Given the description of an element on the screen output the (x, y) to click on. 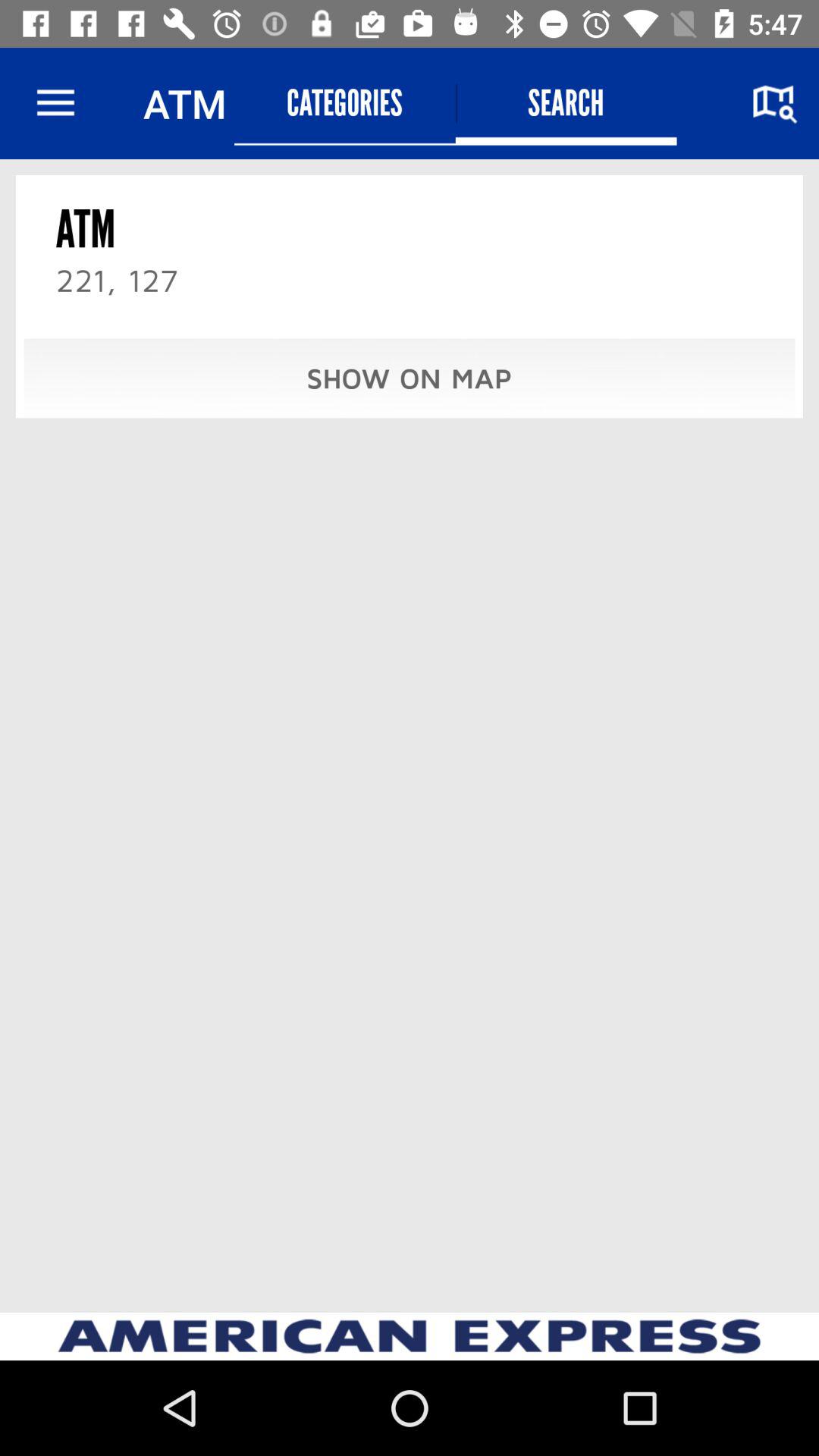
click icon to the right of atm (344, 103)
